Given the description of an element on the screen output the (x, y) to click on. 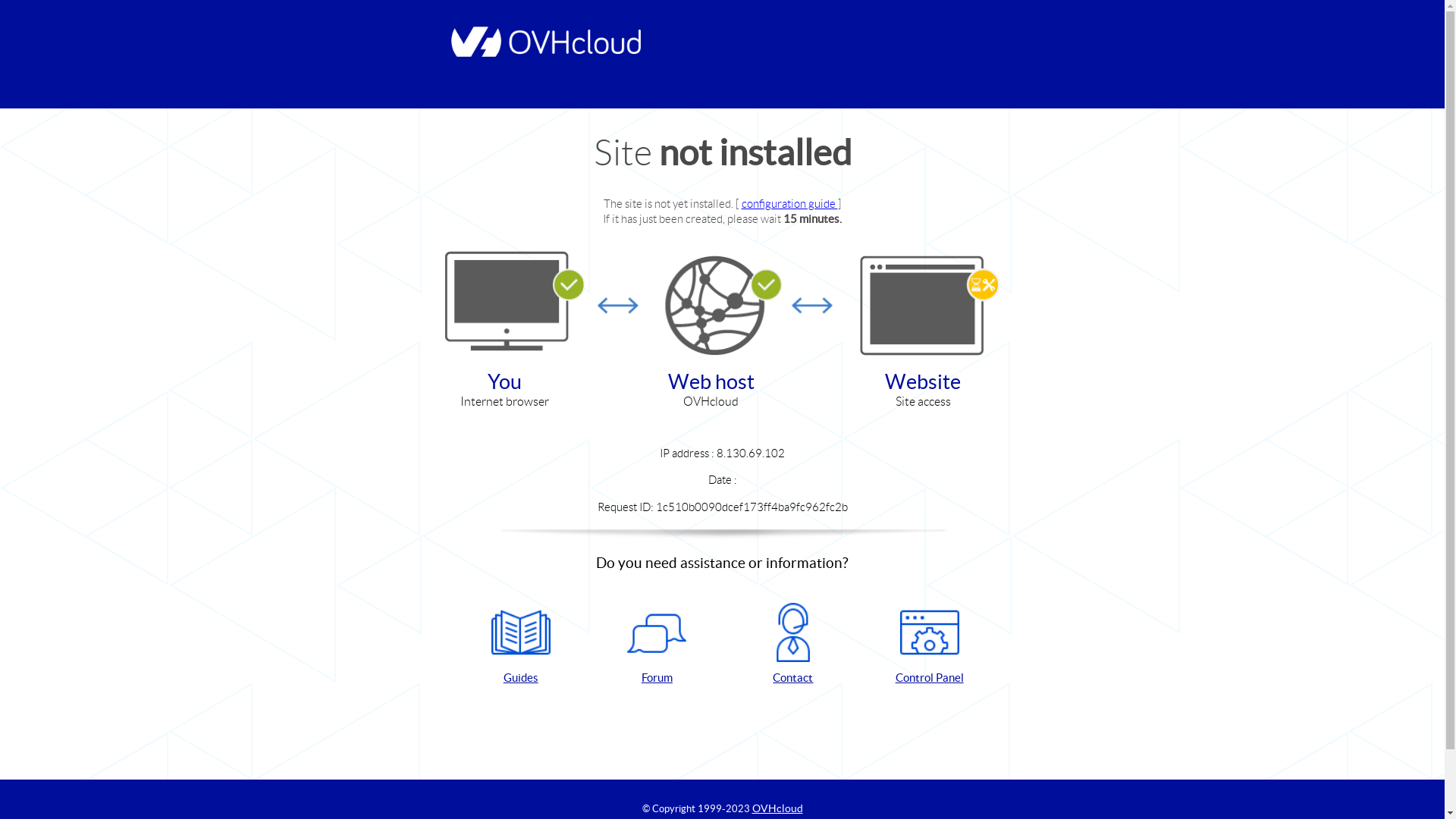
Contact Element type: text (792, 644)
OVHcloud Element type: text (777, 808)
configuration guide Element type: text (789, 203)
Forum Element type: text (656, 644)
Control Panel Element type: text (929, 644)
Guides Element type: text (520, 644)
